Given the description of an element on the screen output the (x, y) to click on. 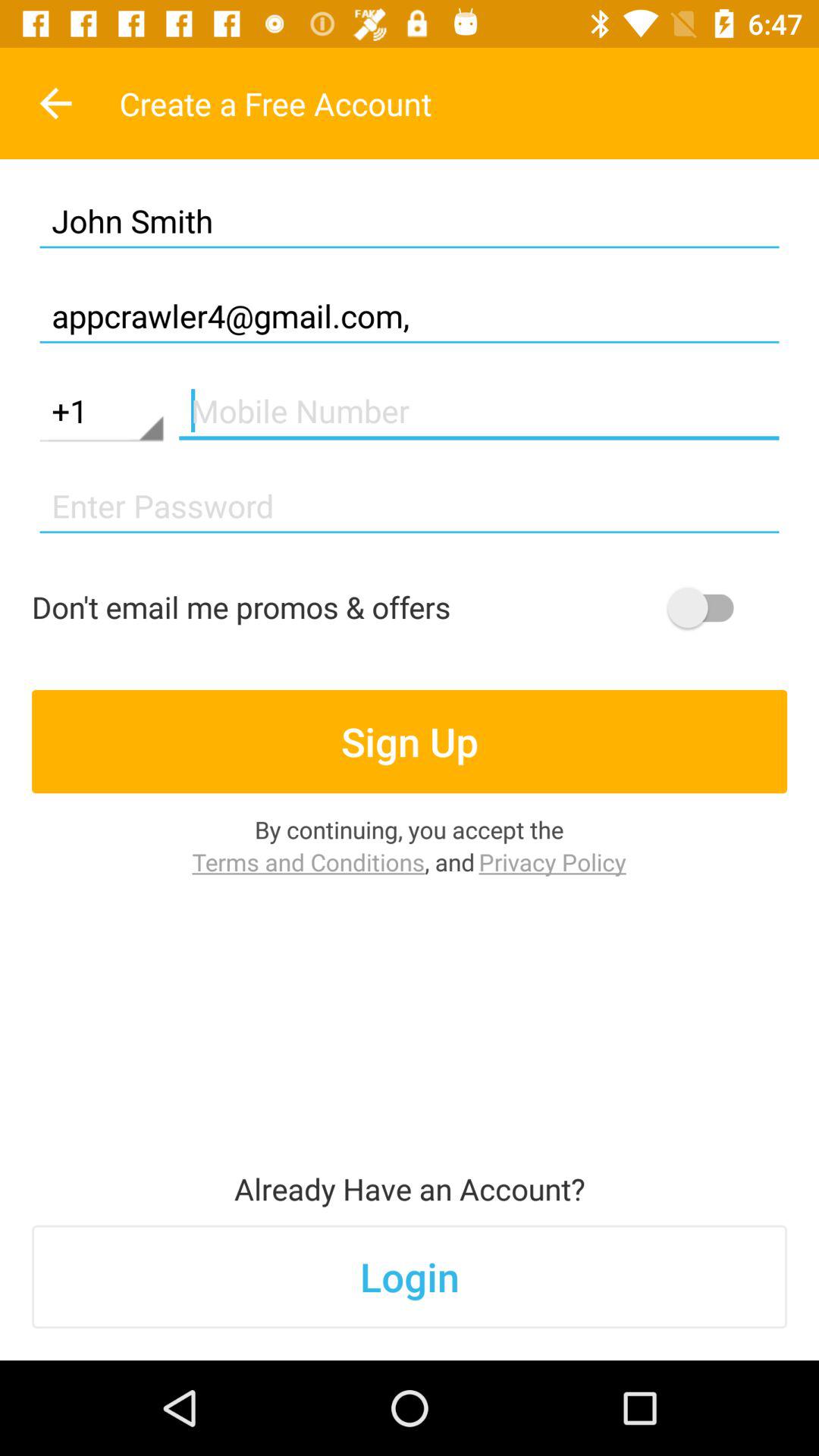
make your password (409, 506)
